Given the description of an element on the screen output the (x, y) to click on. 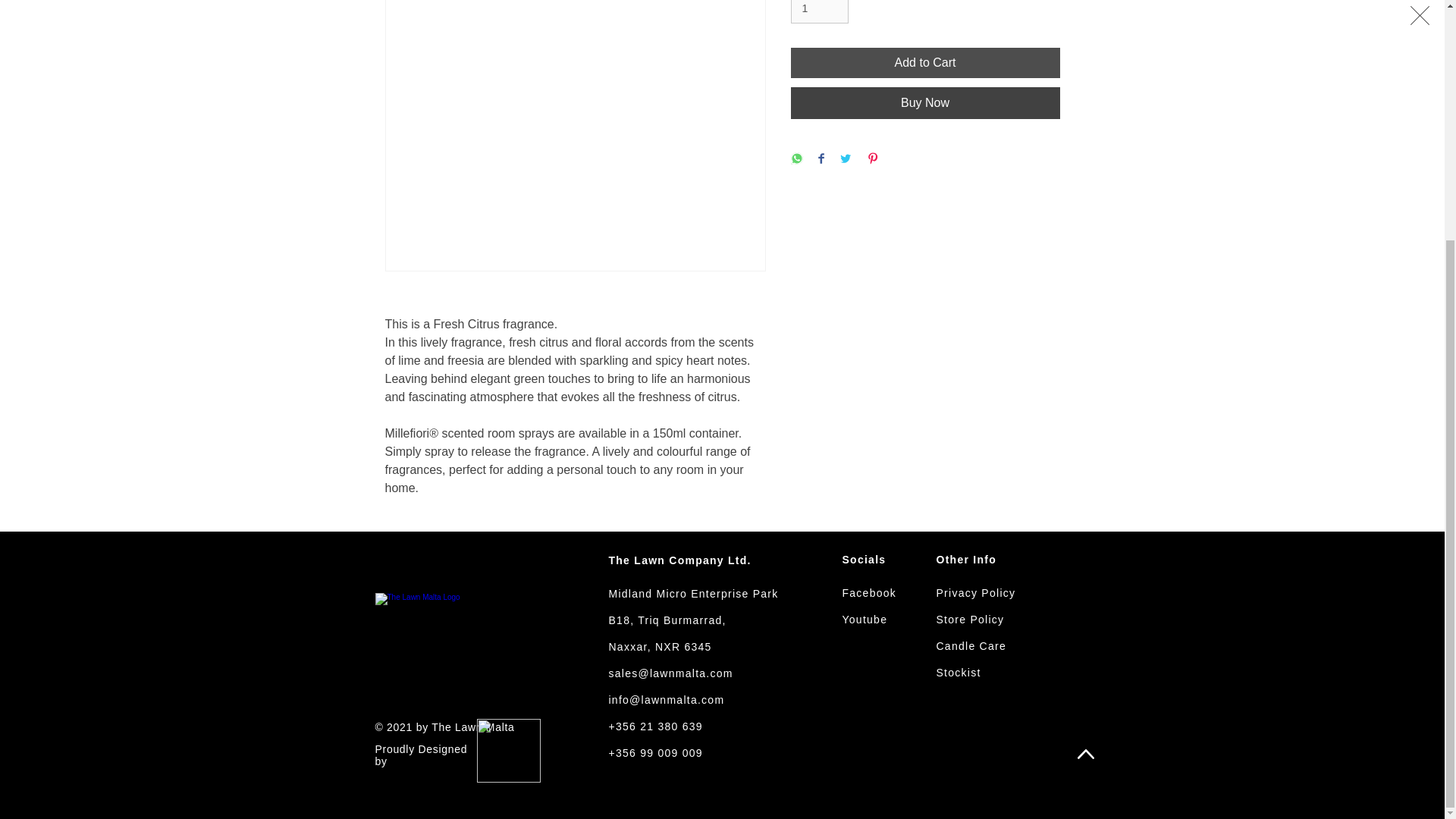
Privacy Policy (975, 592)
Buy Now (924, 102)
Candle Care (971, 645)
Stockist (957, 672)
Youtube (863, 619)
Store Policy (970, 619)
1 (818, 11)
Add to Cart (924, 62)
Facebook (868, 592)
